Given the description of an element on the screen output the (x, y) to click on. 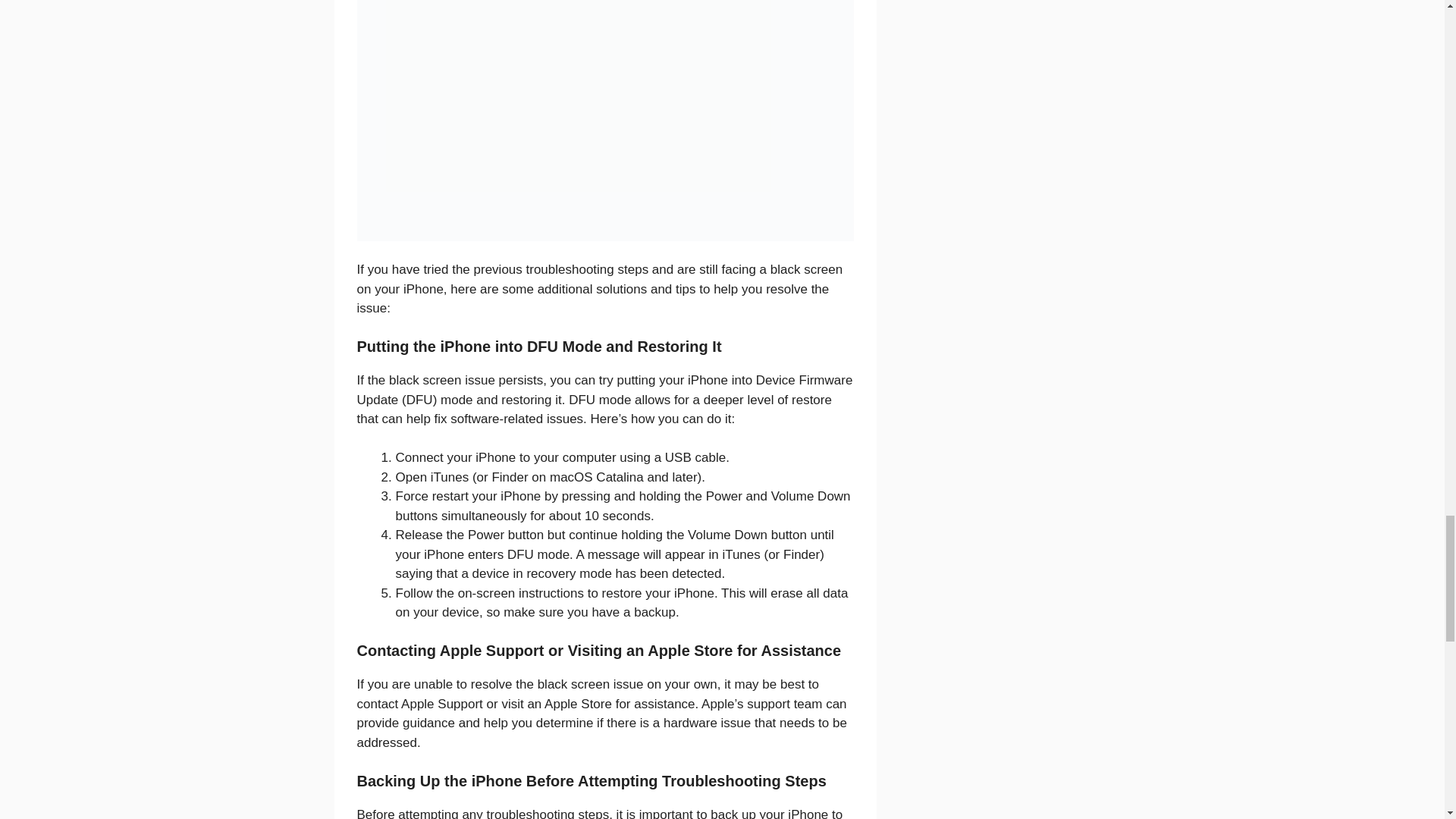
Iphone screen fix (604, 120)
